Given the description of an element on the screen output the (x, y) to click on. 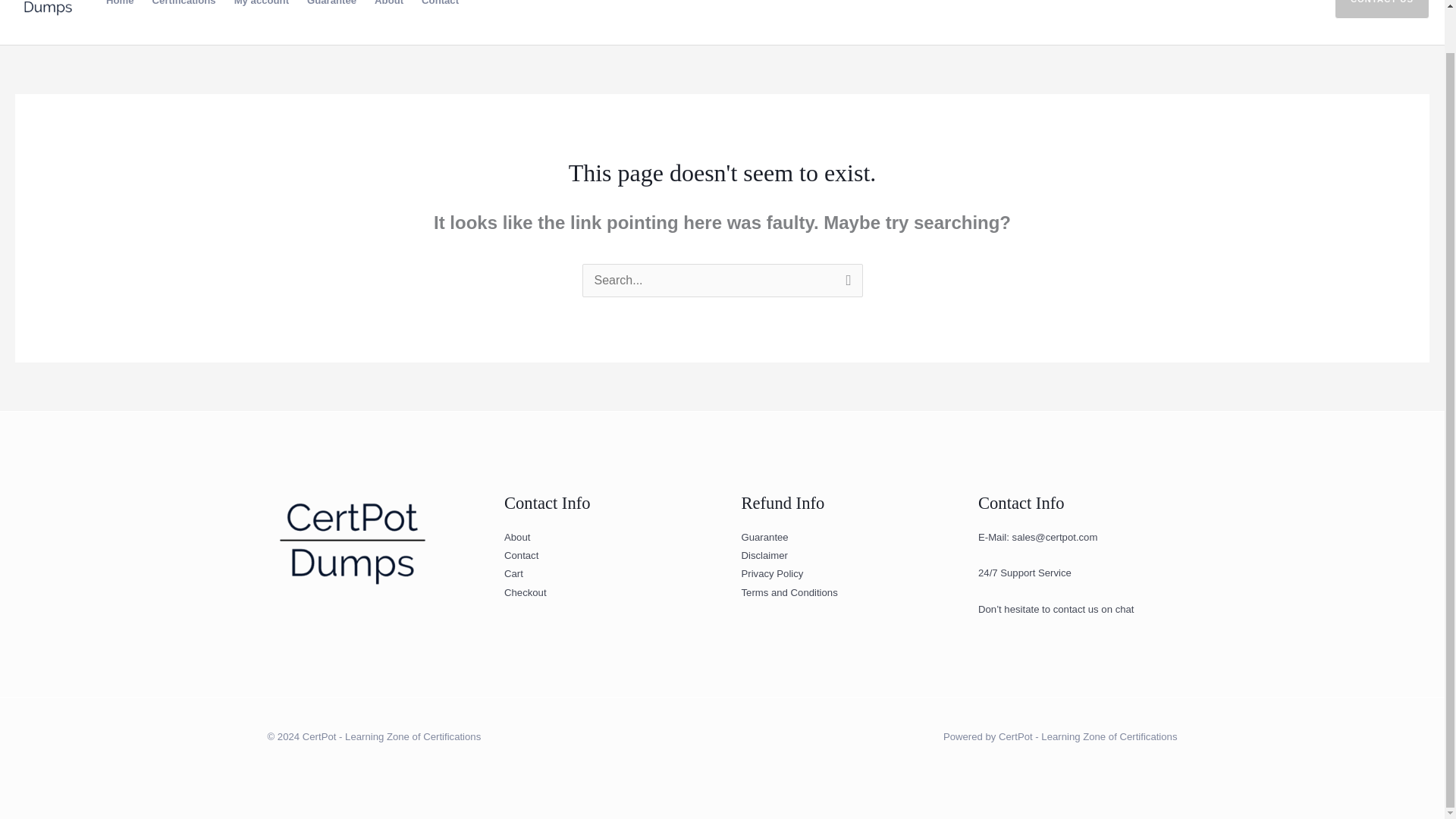
Search (844, 282)
My account (261, 0)
Guarantee (331, 0)
Contact (439, 0)
Privacy Policy (772, 573)
Terms and Conditions (789, 592)
About (516, 536)
Checkout (525, 592)
Search (844, 282)
Cart (512, 573)
About (388, 0)
Search (844, 282)
Disclaimer (764, 555)
Guarantee (765, 536)
Contact (520, 555)
